Given the description of an element on the screen output the (x, y) to click on. 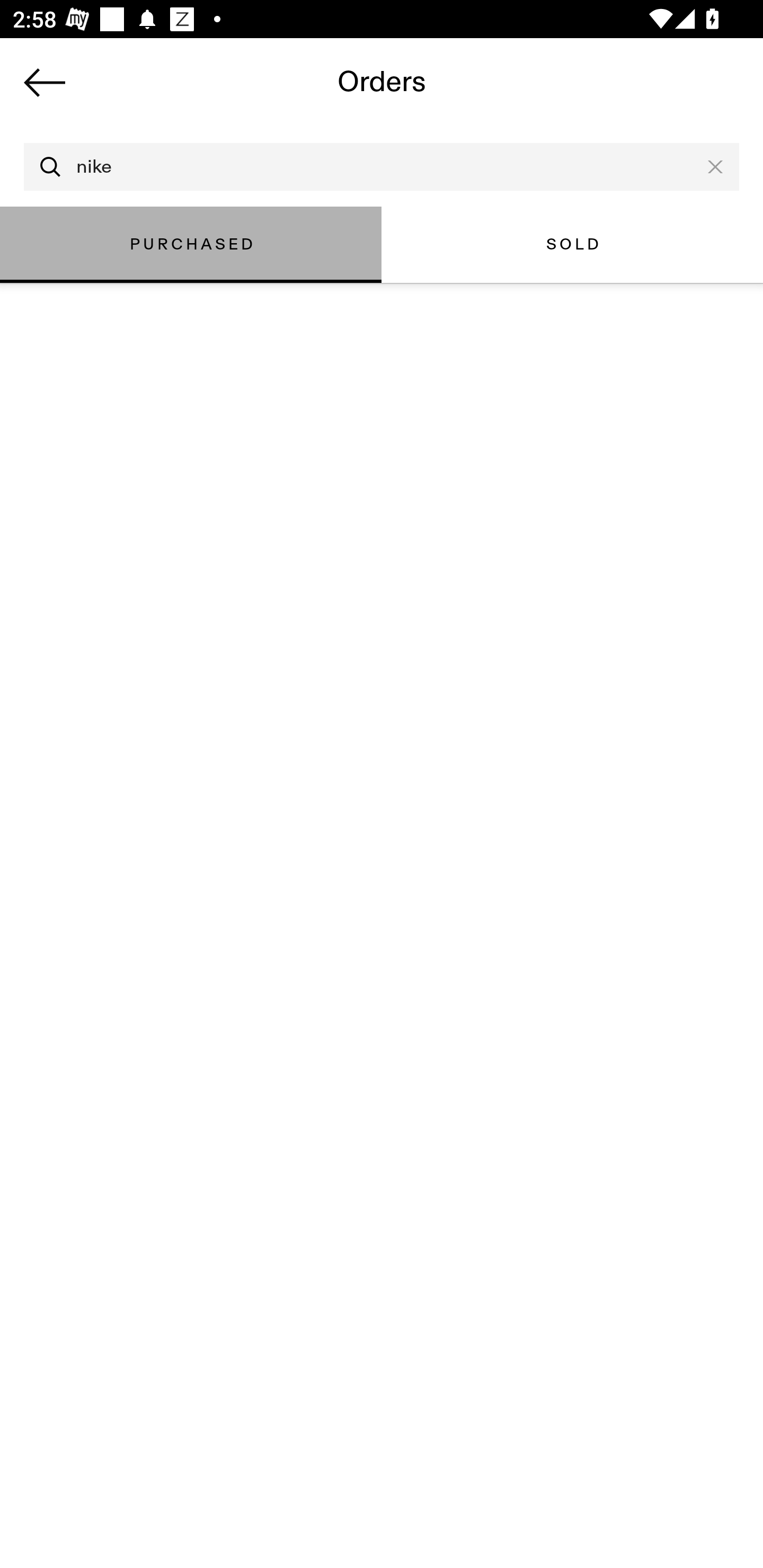
Navigate up (44, 82)
nike (381, 166)
SOLD (572, 244)
